Given the description of an element on the screen output the (x, y) to click on. 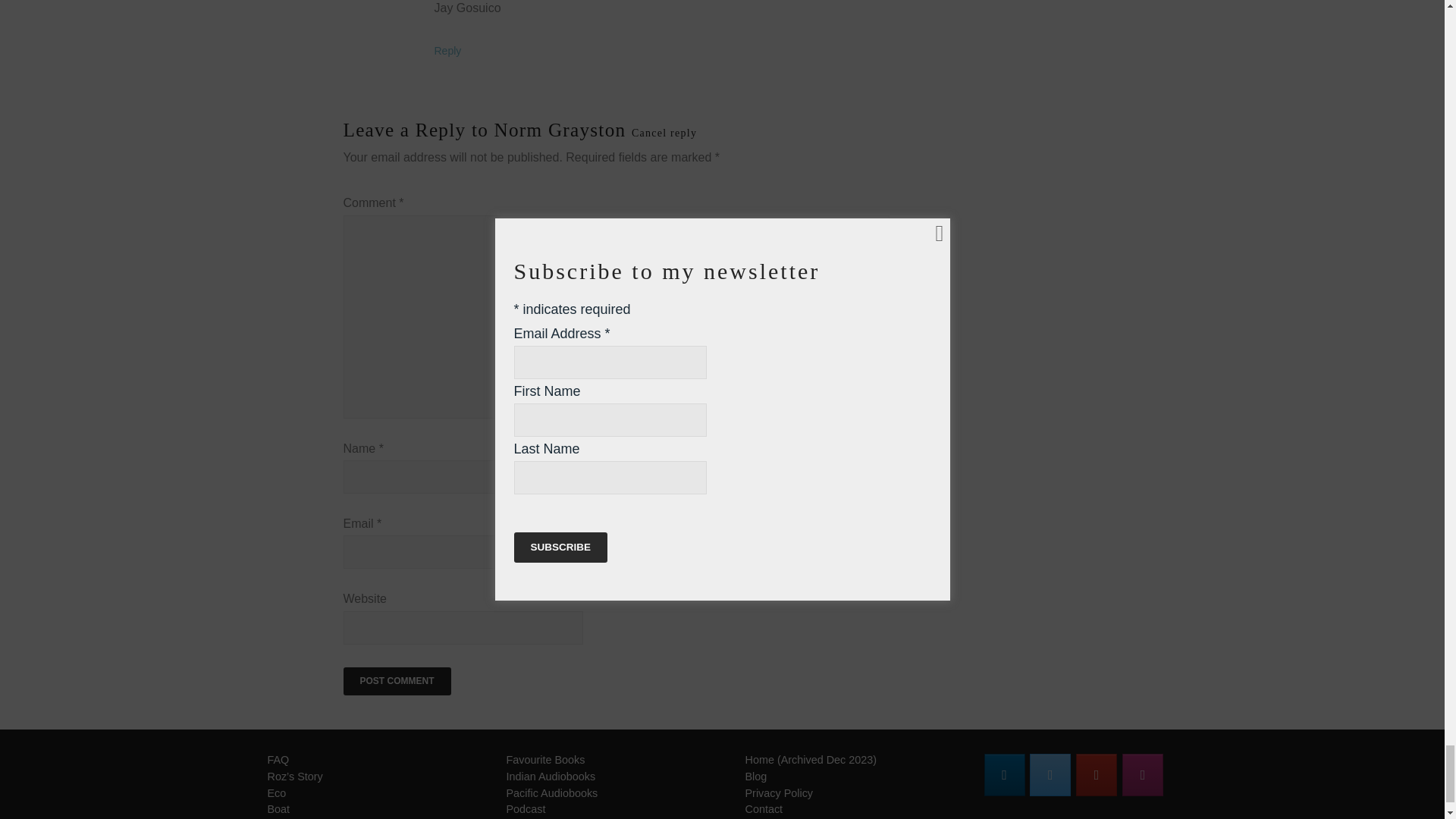
Roz Savage on Linkedin (1004, 774)
Roz Savage on Instagram (1142, 774)
Post Comment (395, 681)
Roz Savage on Youtube (1095, 774)
Roz Savage on X Twitter (1049, 774)
